Given the description of an element on the screen output the (x, y) to click on. 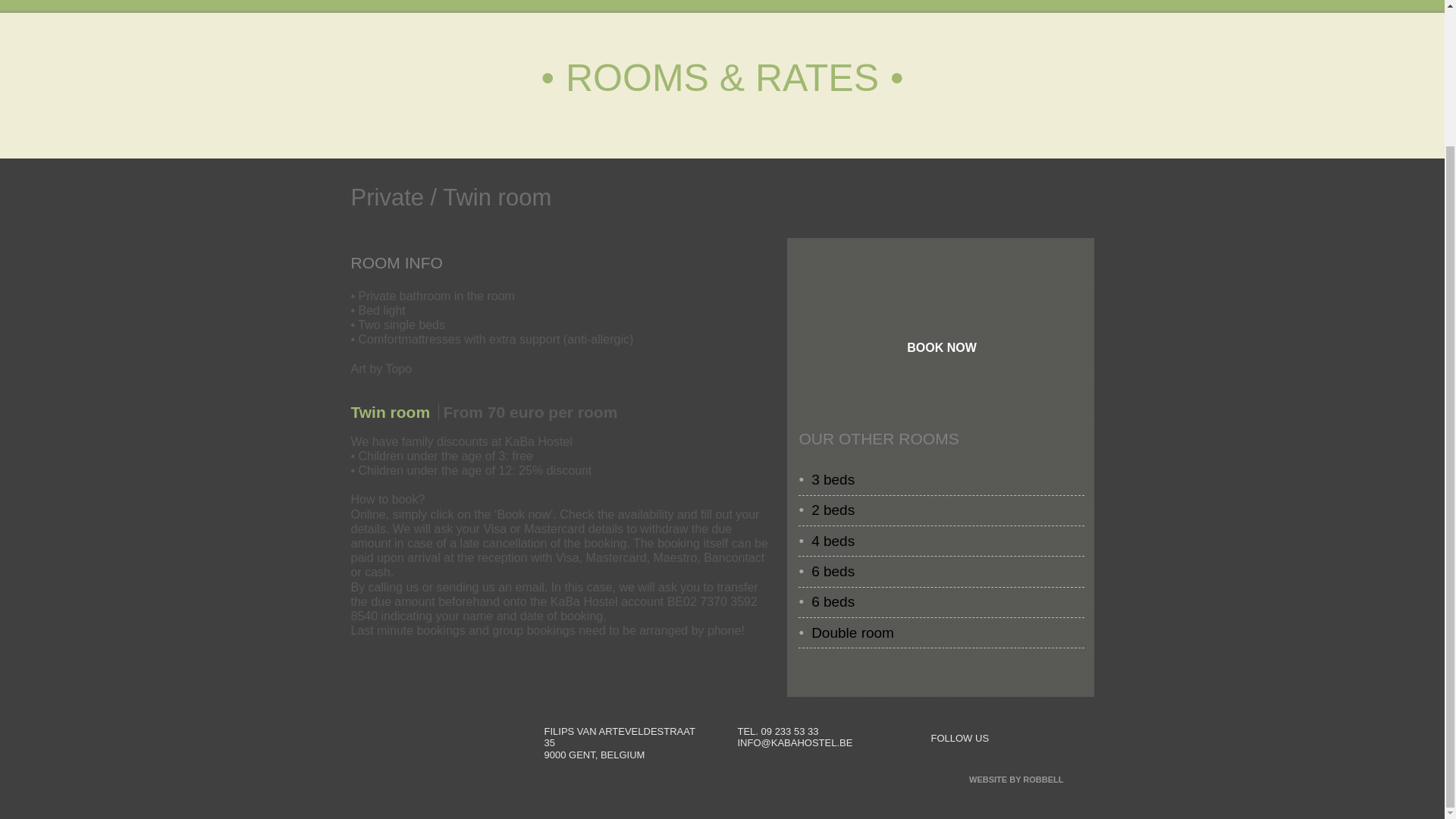
6 beds dorm (828, 571)
2 beds (828, 509)
2 bed private dorm (828, 509)
FACEBOOK (1014, 736)
4 beds dorm (828, 540)
TWITTER (1053, 736)
Private double room (848, 632)
6 beds (828, 571)
Double room (848, 632)
4 beds (828, 540)
